Given the description of an element on the screen output the (x, y) to click on. 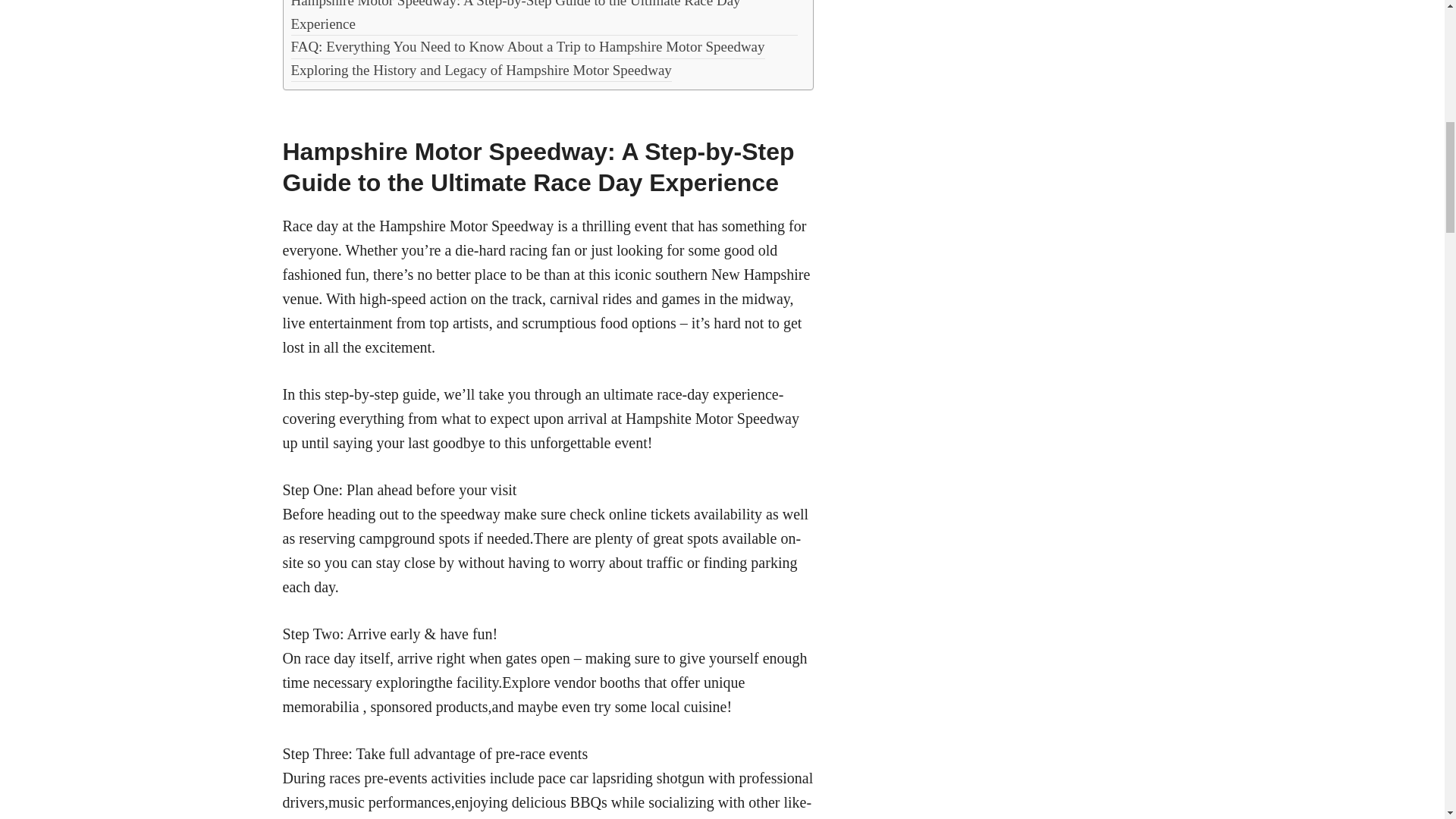
Exploring the History and Legacy of Hampshire Motor Speedway (481, 69)
